Given the description of an element on the screen output the (x, y) to click on. 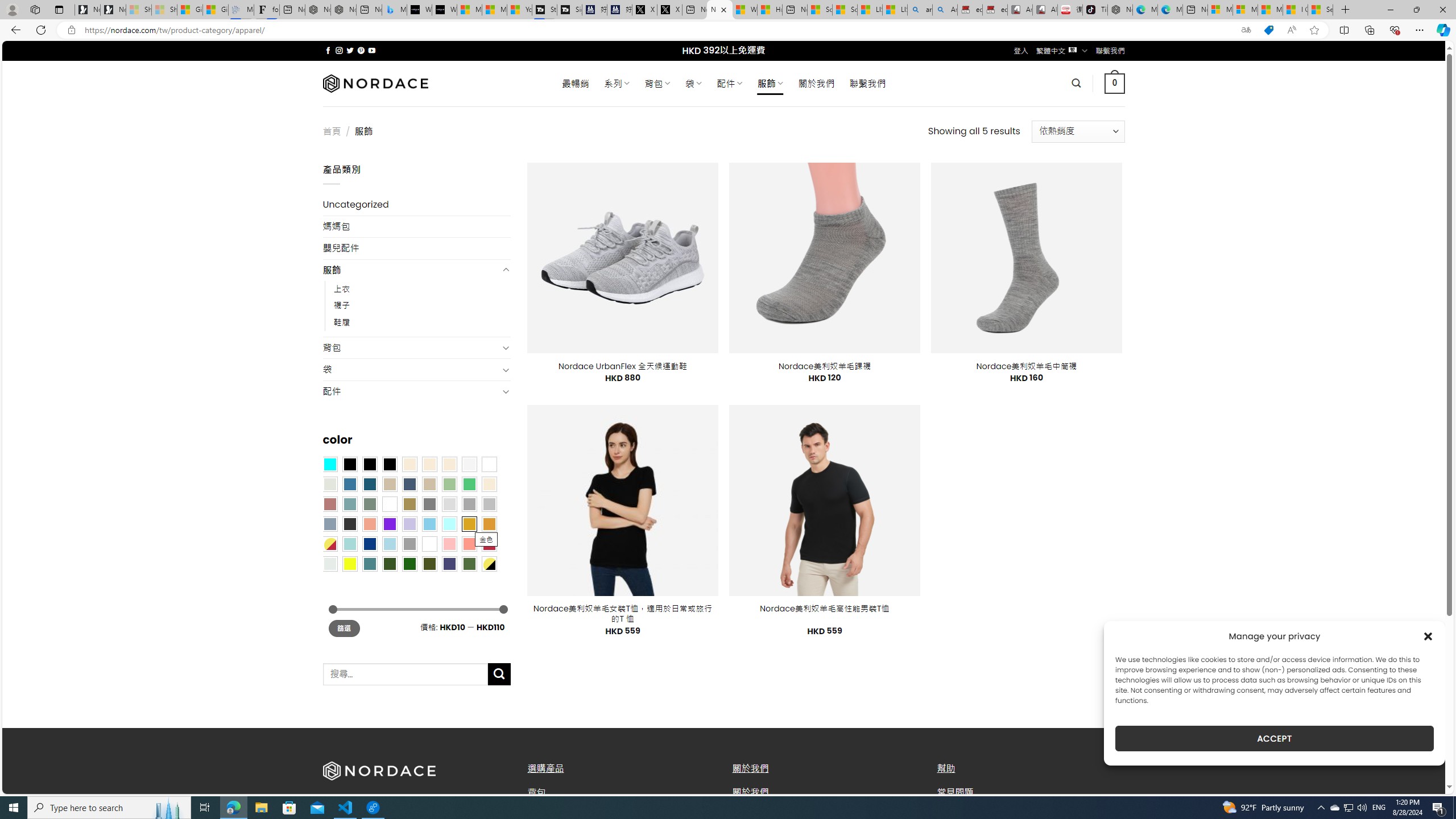
 0  (1115, 83)
Microsoft Bing Travel - Shangri-La Hotel Bangkok (394, 9)
